Given the description of an element on the screen output the (x, y) to click on. 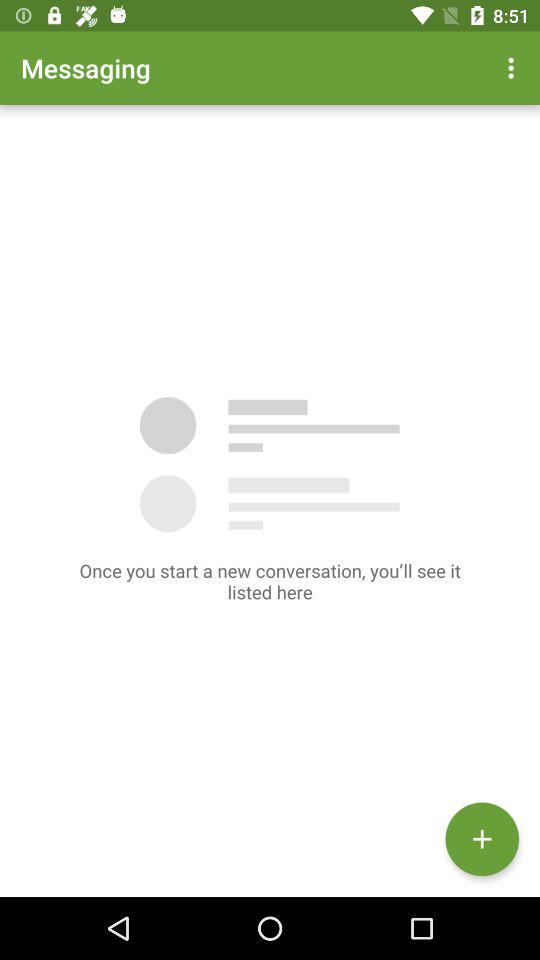
open icon to the right of messaging app (513, 67)
